Given the description of an element on the screen output the (x, y) to click on. 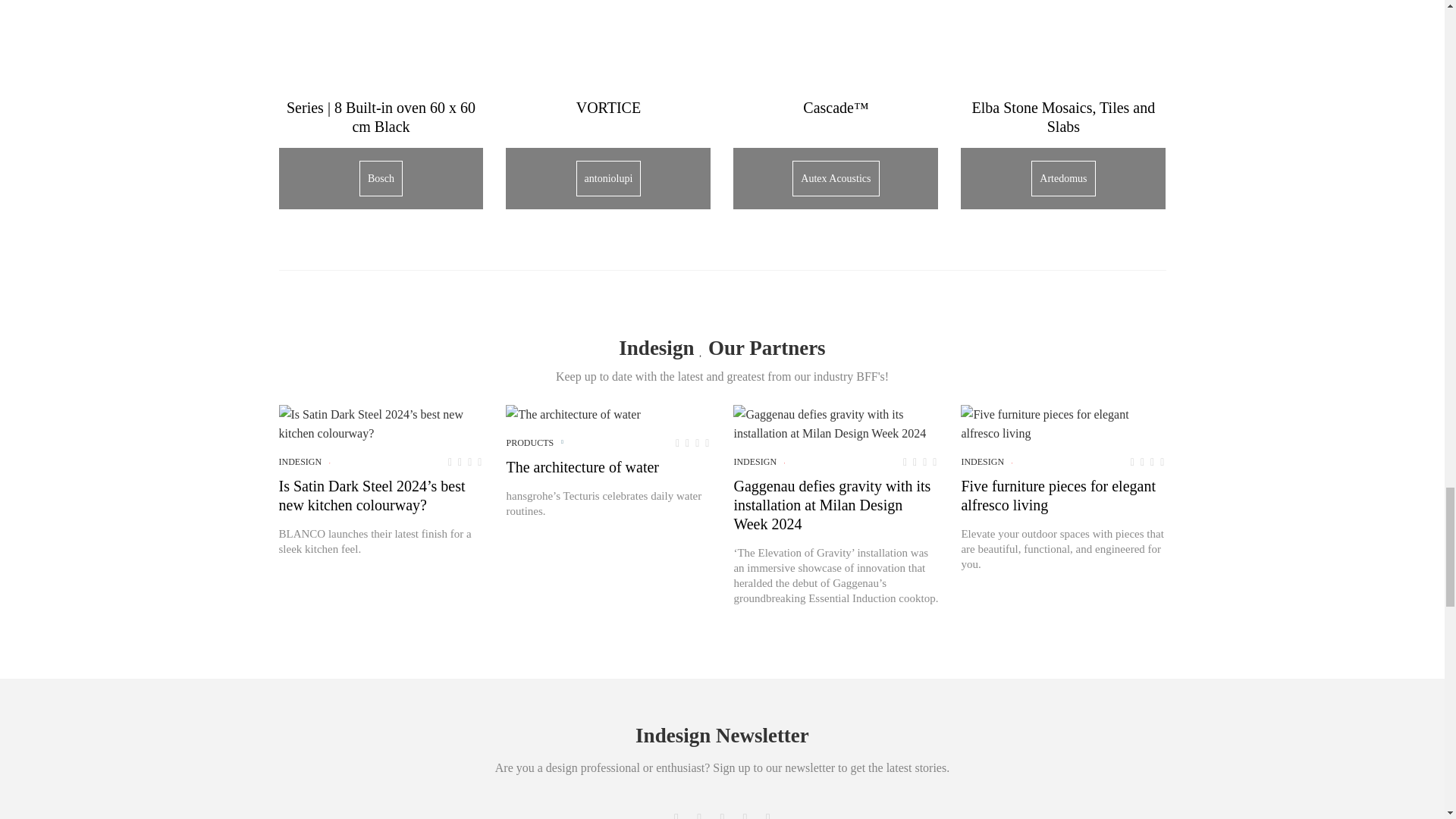
The architecture of water (572, 414)
Five furniture pieces for elegant alfresco living (1063, 423)
